Given the description of an element on the screen output the (x, y) to click on. 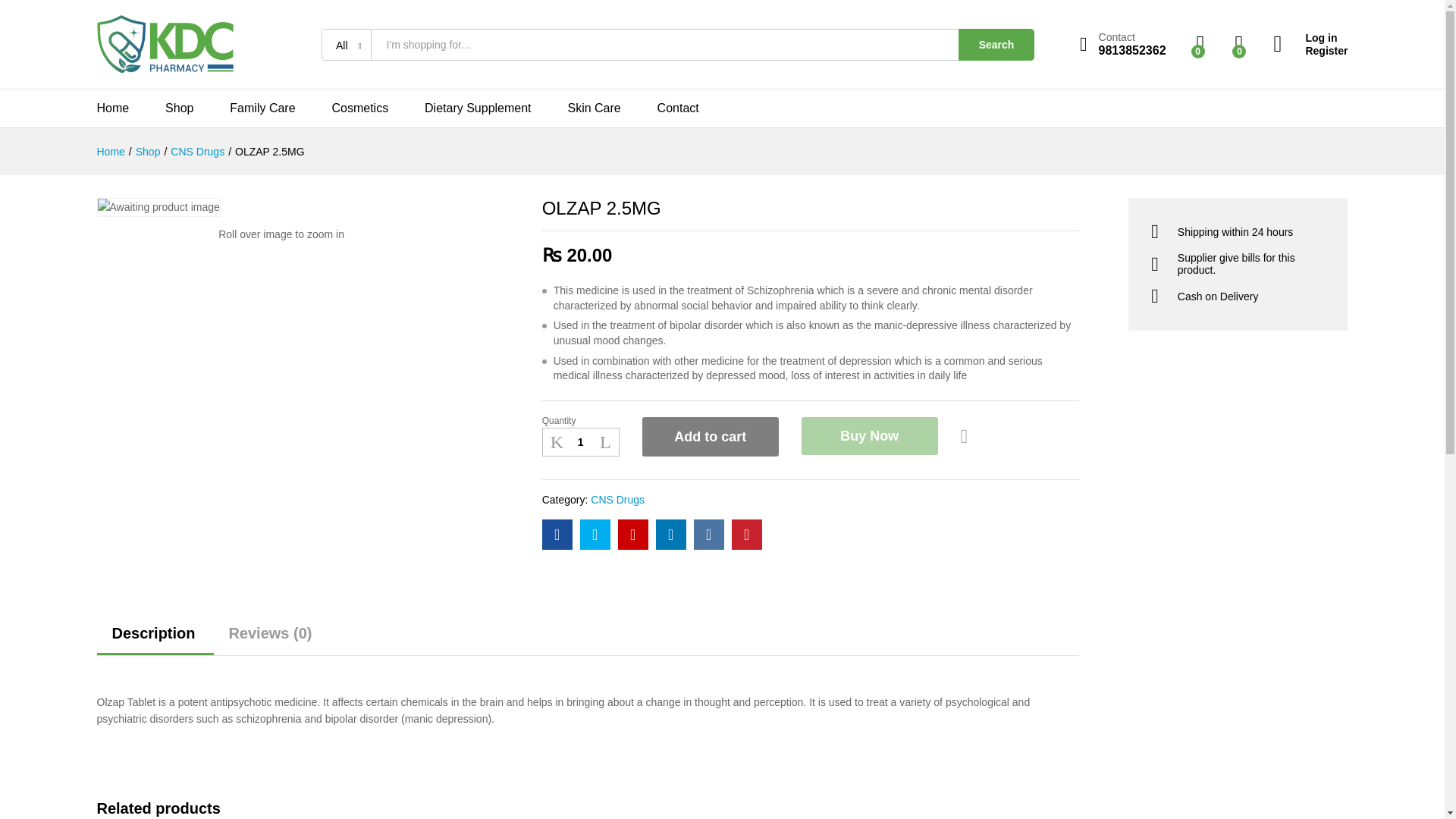
Add to Wishlist (965, 436)
CNS Drugs (618, 499)
Log in (1310, 38)
Search (995, 44)
OLZAP 2.5MG (269, 151)
CNS Drugs (197, 151)
OLZAP 2.5MG (556, 534)
Register (1310, 50)
Dietary Supplement (478, 108)
Home (111, 151)
